Given the description of an element on the screen output the (x, y) to click on. 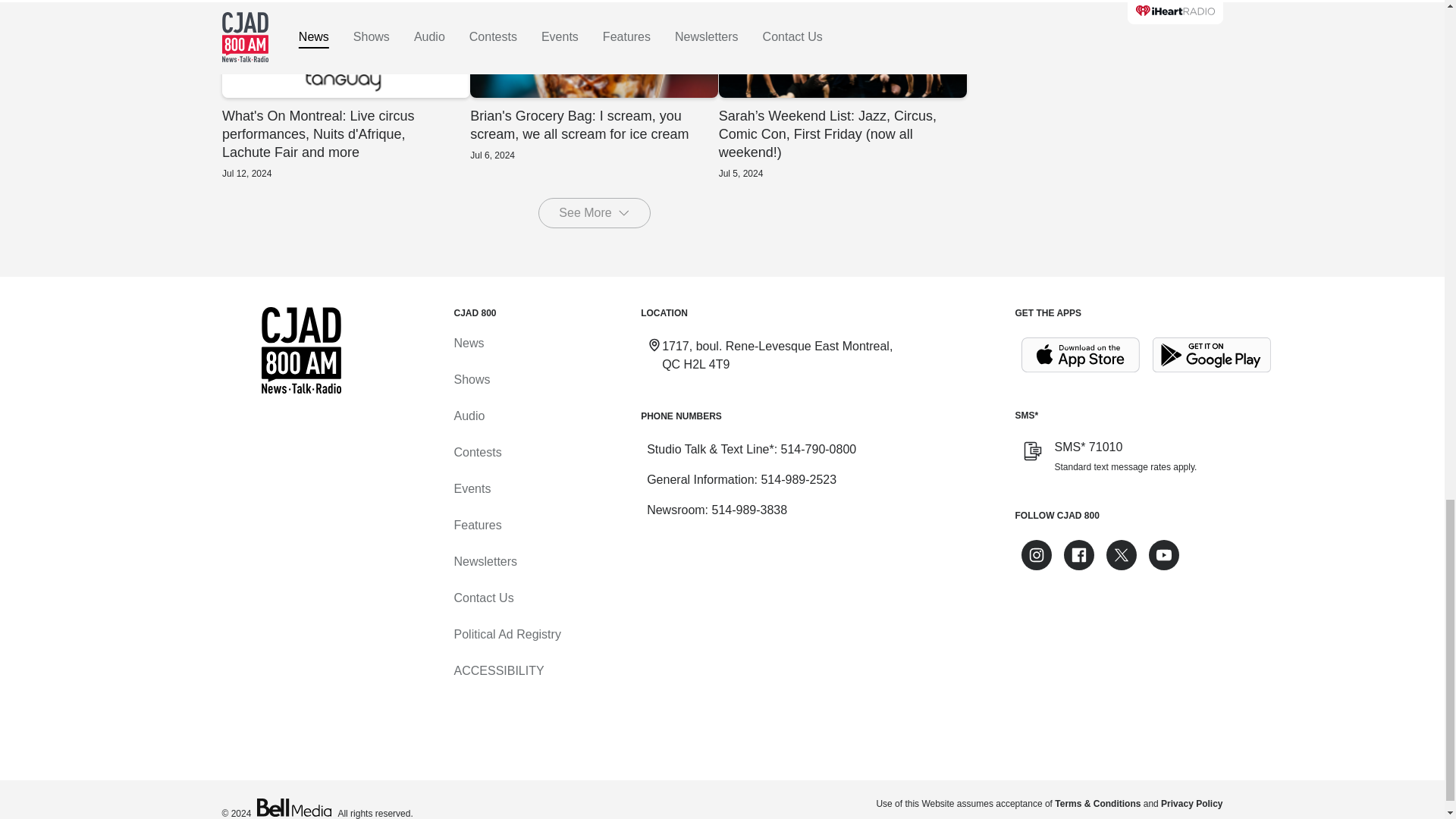
Privacy Policy (1191, 803)
News (467, 342)
514-989-3838 (749, 509)
Get it on Google Play (1212, 355)
Contact Us (482, 597)
Events (471, 488)
Political Ad Registry (506, 634)
Audio (468, 415)
See More (593, 213)
Contests (476, 451)
Accessibility (497, 671)
Features (476, 524)
514-989-2523 (797, 479)
